Given the description of an element on the screen output the (x, y) to click on. 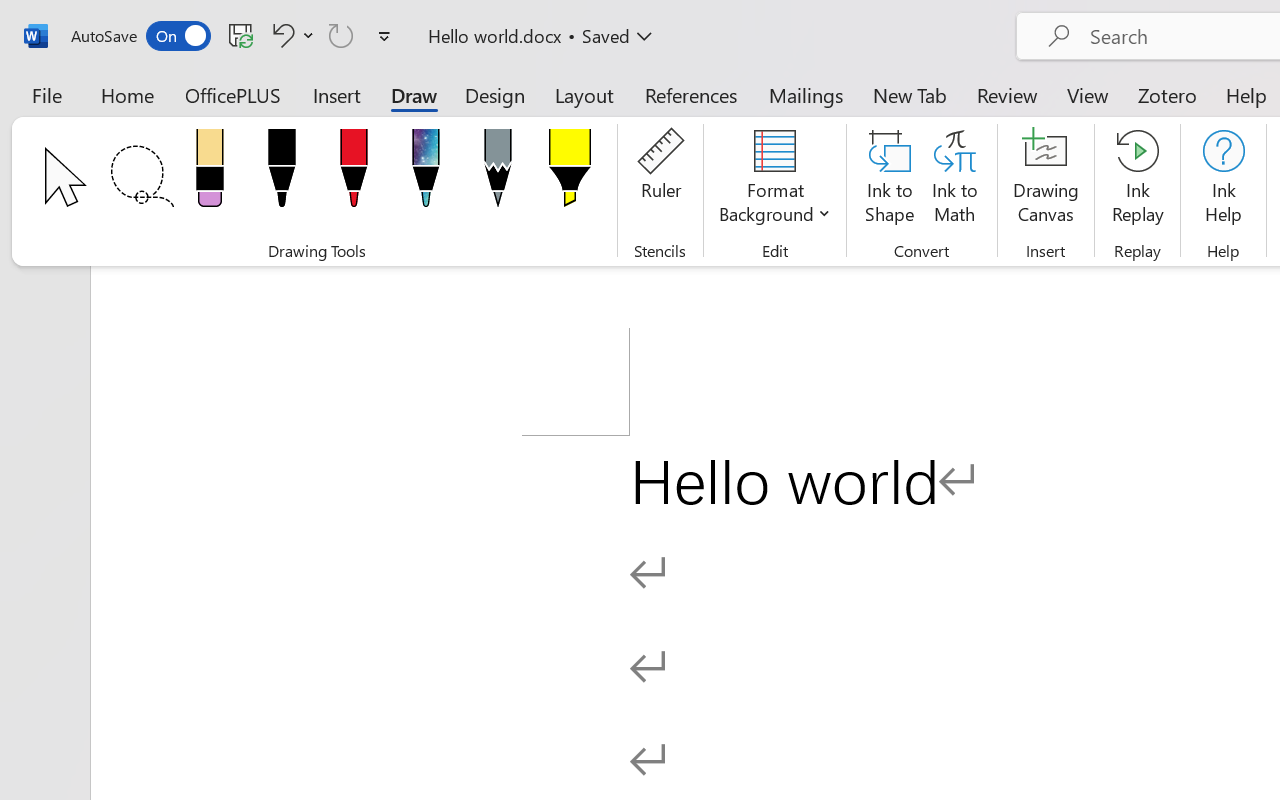
New Tab (909, 94)
Customize Quick Access Toolbar (384, 35)
Review (1007, 94)
OfficePLUS (233, 94)
Quick Access Toolbar (233, 36)
Save (241, 35)
Undo Click and Type Formatting (290, 35)
Highlighter: Yellow, 6 mm (569, 173)
Ink to Shape (889, 179)
Drawing Canvas (1045, 179)
Pen: Black, 0.5 mm (281, 173)
Insert (337, 94)
Design (495, 94)
